Given the description of an element on the screen output the (x, y) to click on. 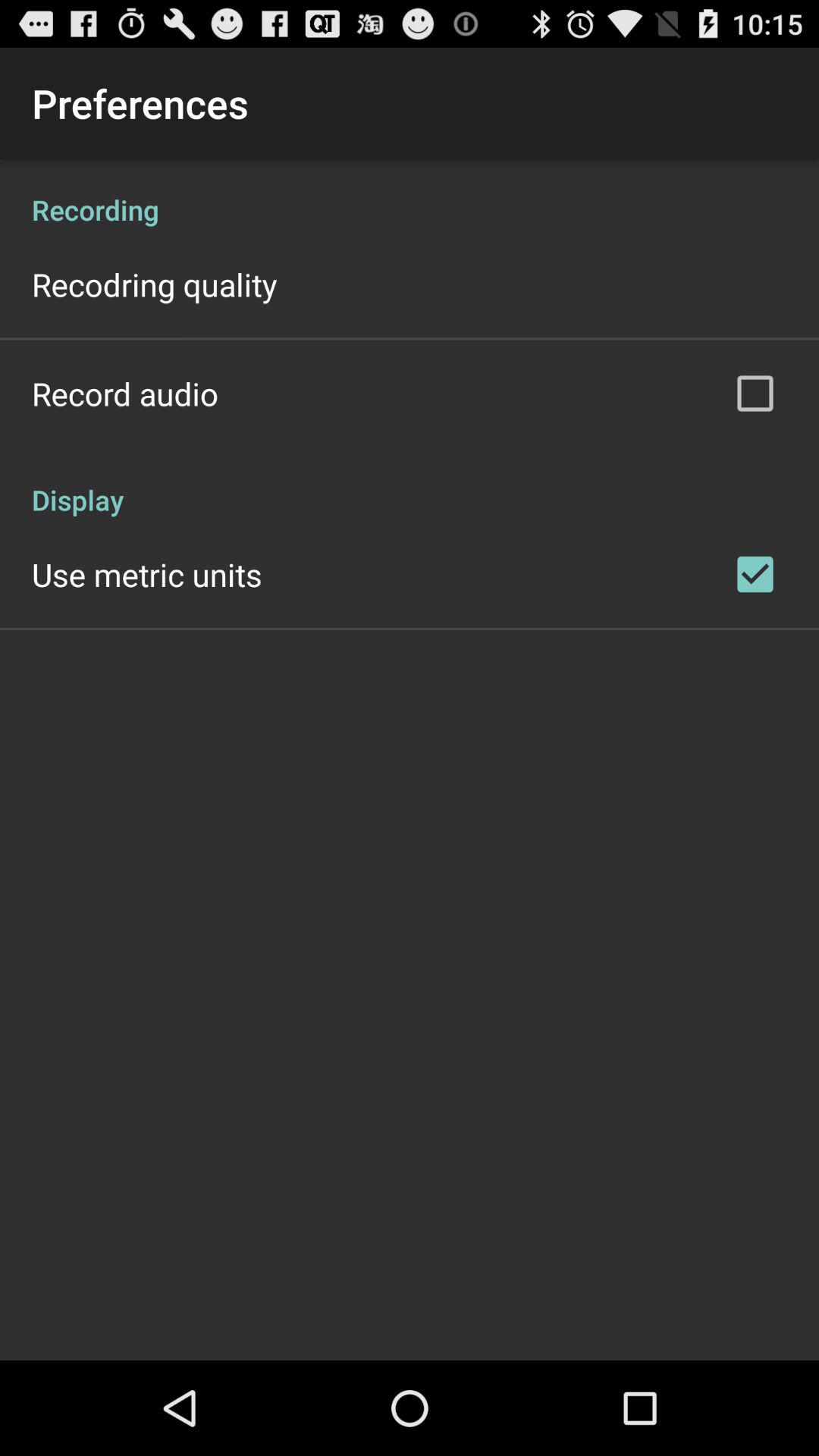
press the icon on the left (146, 574)
